Given the description of an element on the screen output the (x, y) to click on. 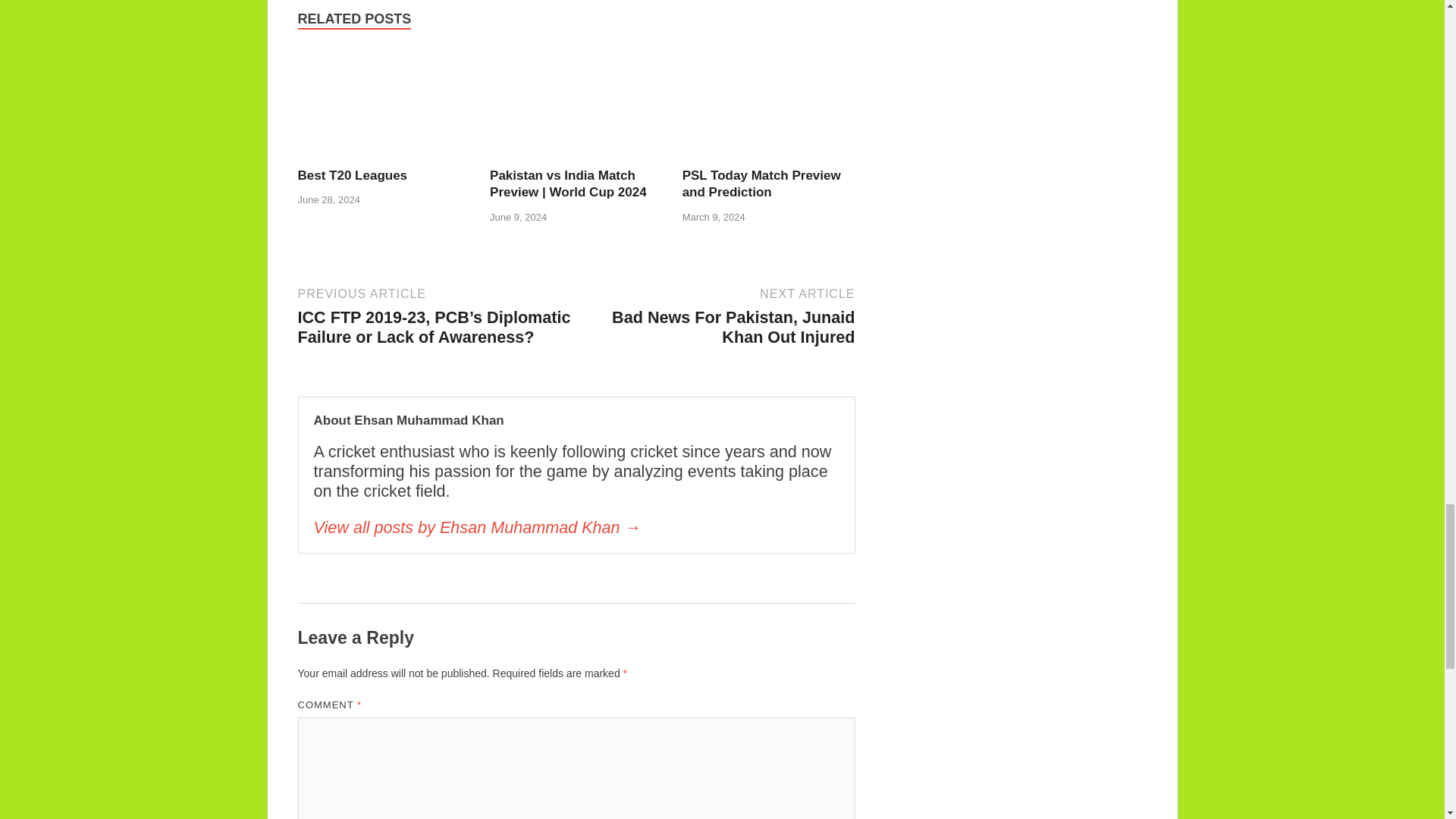
PSL Today Match Preview and Prediction (769, 106)
Best T20 Leagues (383, 106)
Ehsan Muhammad Khan (577, 527)
Best T20 Leagues (352, 175)
PSL Today Match Preview and Prediction (761, 183)
PSL Today Match Preview and Prediction (761, 183)
Best T20 Leagues (352, 175)
